Given the description of an element on the screen output the (x, y) to click on. 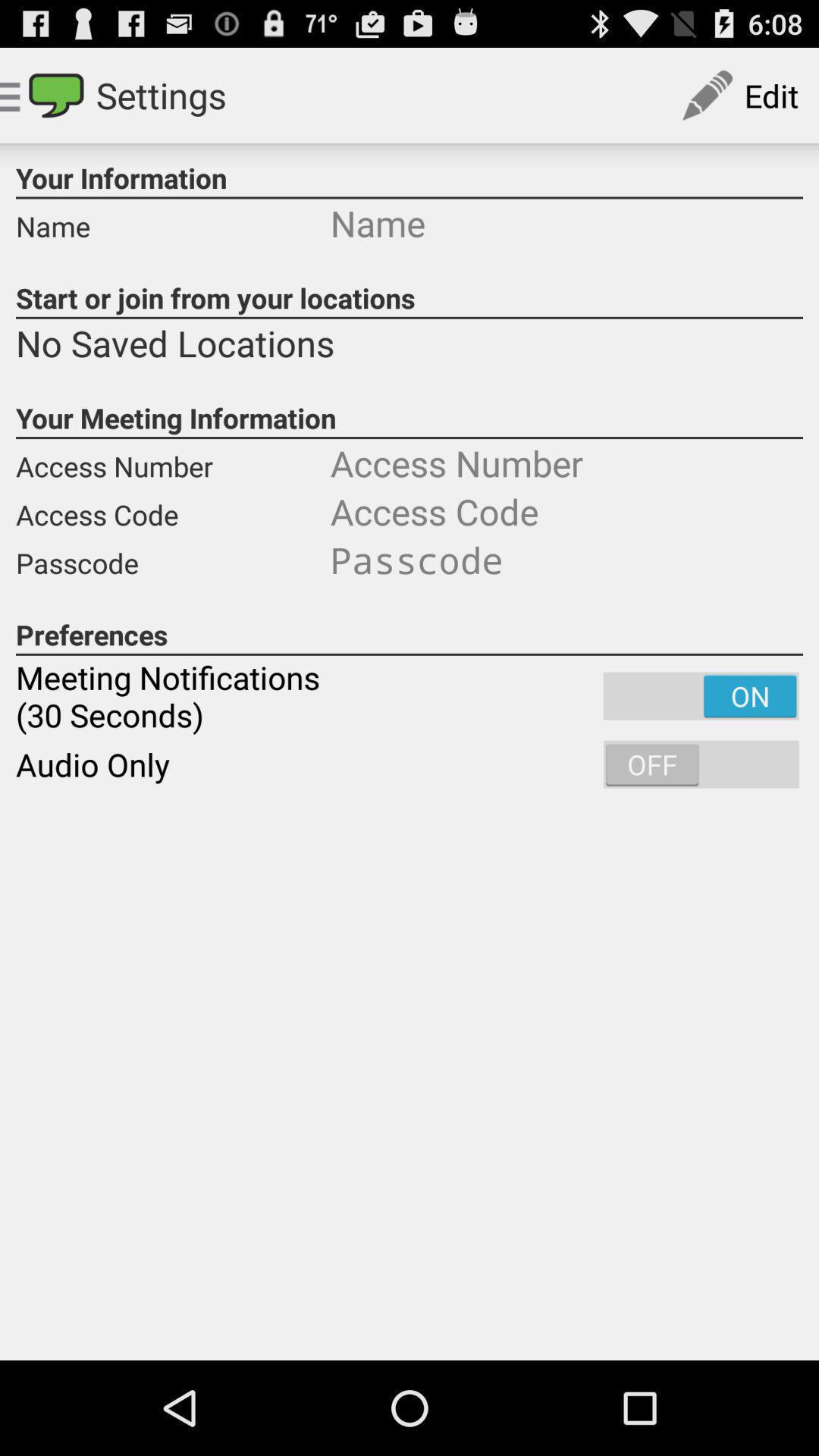
scroll to meeting notifications 30 item (409, 695)
